Given the description of an element on the screen output the (x, y) to click on. 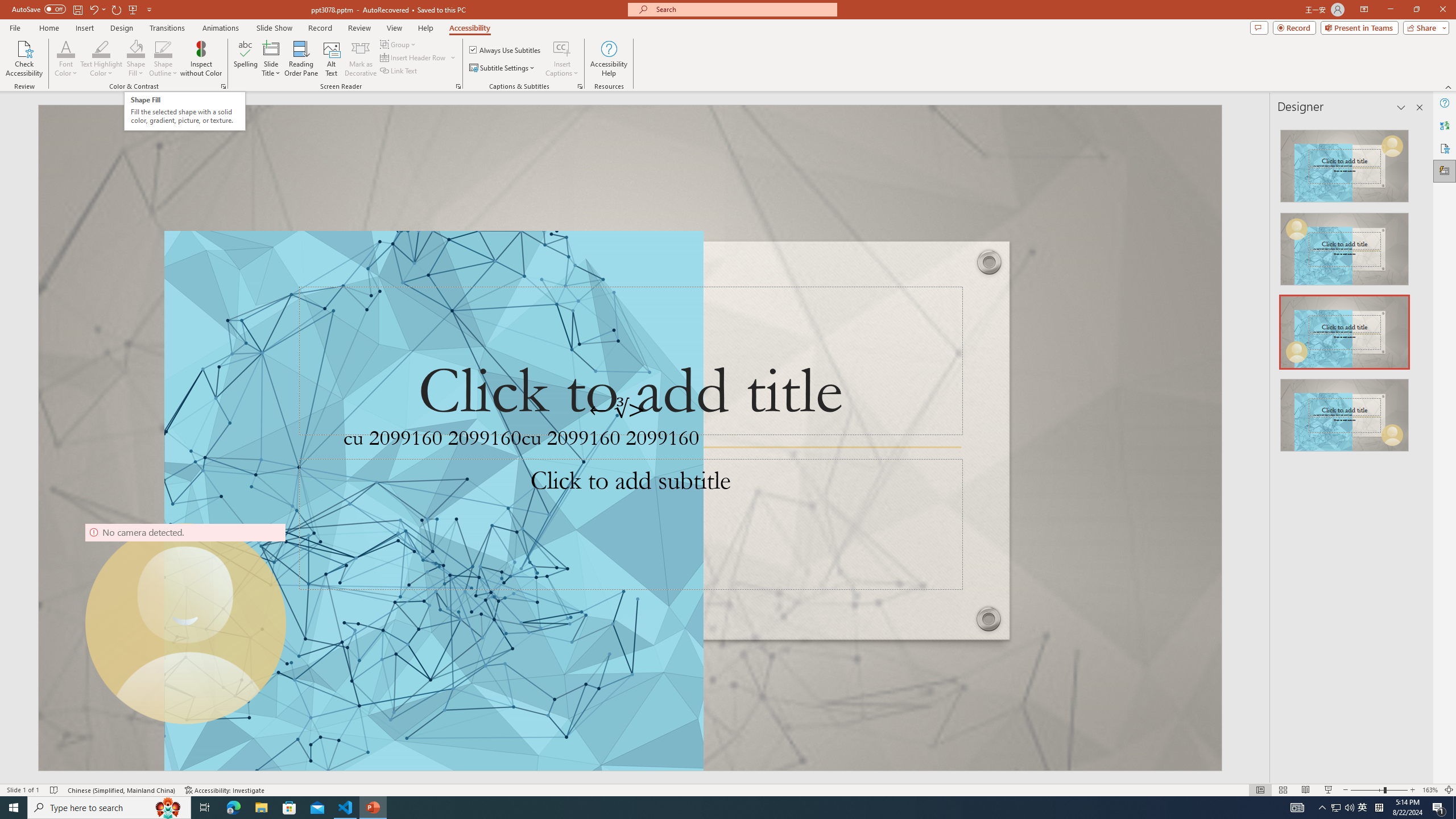
TextBox 7 (617, 409)
Accessibility (1444, 147)
Text Highlight Color (100, 58)
Shape Fill (135, 58)
Subtitle TextBox (630, 523)
Camera 9, No camera detected. (185, 623)
Group (398, 44)
Shape Fill (135, 48)
